Given the description of an element on the screen output the (x, y) to click on. 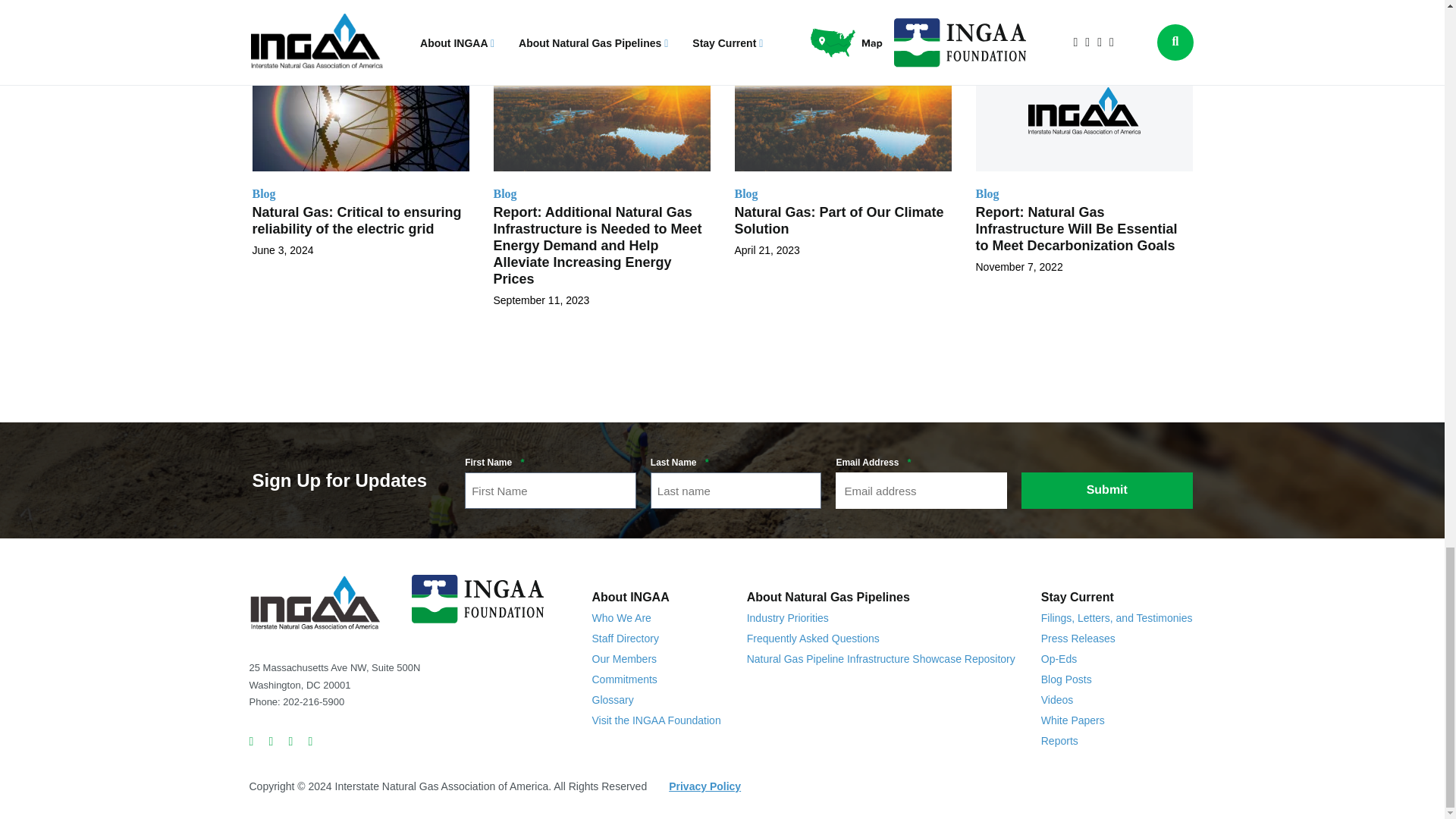
LinkedIn (293, 741)
Twitter (254, 741)
Submit (1107, 490)
Facebook (274, 741)
YouTube (313, 741)
